Given the description of an element on the screen output the (x, y) to click on. 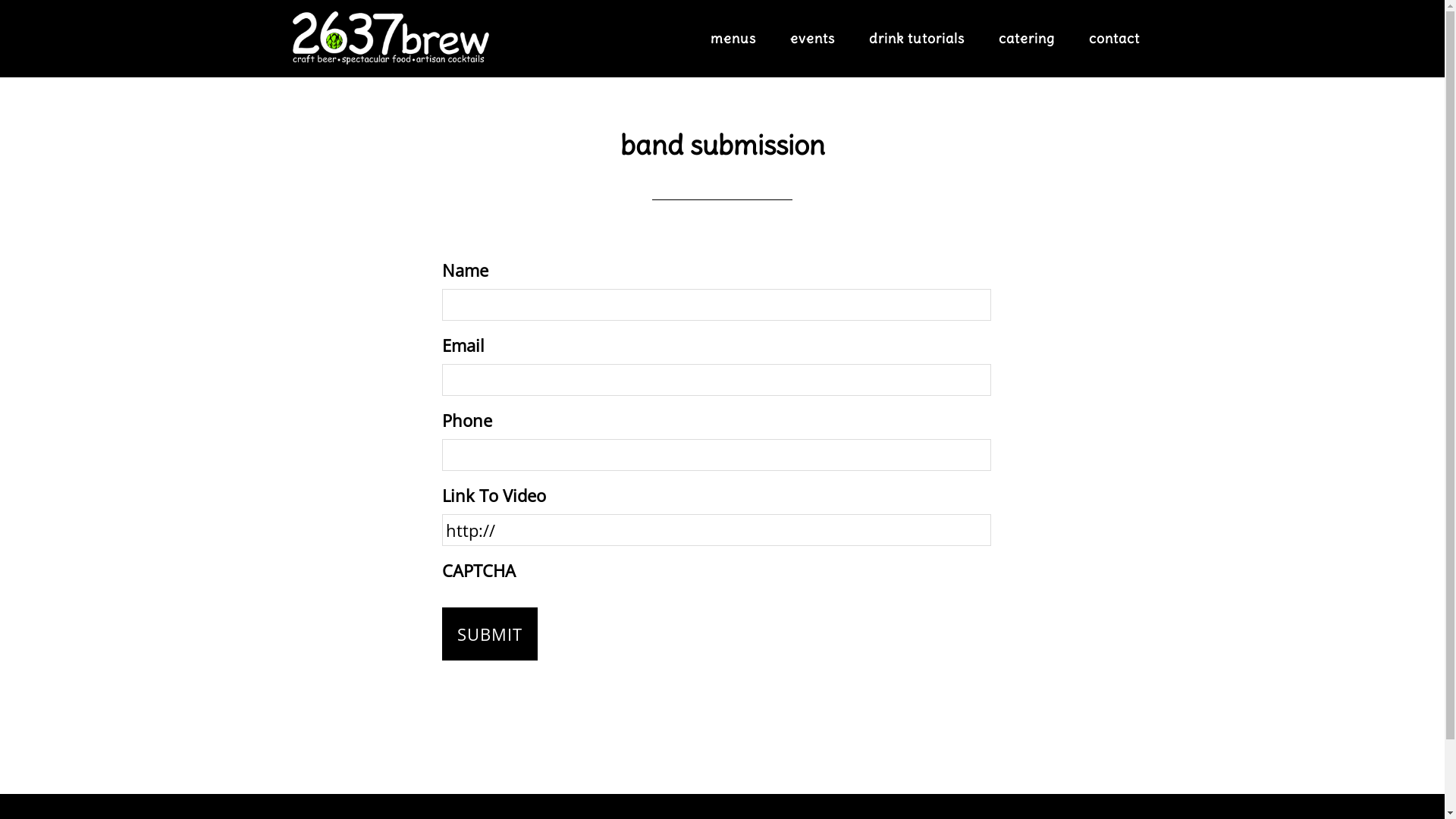
Submit Element type: text (488, 633)
catering Element type: text (1025, 38)
menus Element type: text (732, 38)
drink tutorials Element type: text (916, 38)
events Element type: text (812, 38)
2637 BREW Element type: text (390, 37)
contact Element type: text (1113, 38)
